Given the description of an element on the screen output the (x, y) to click on. 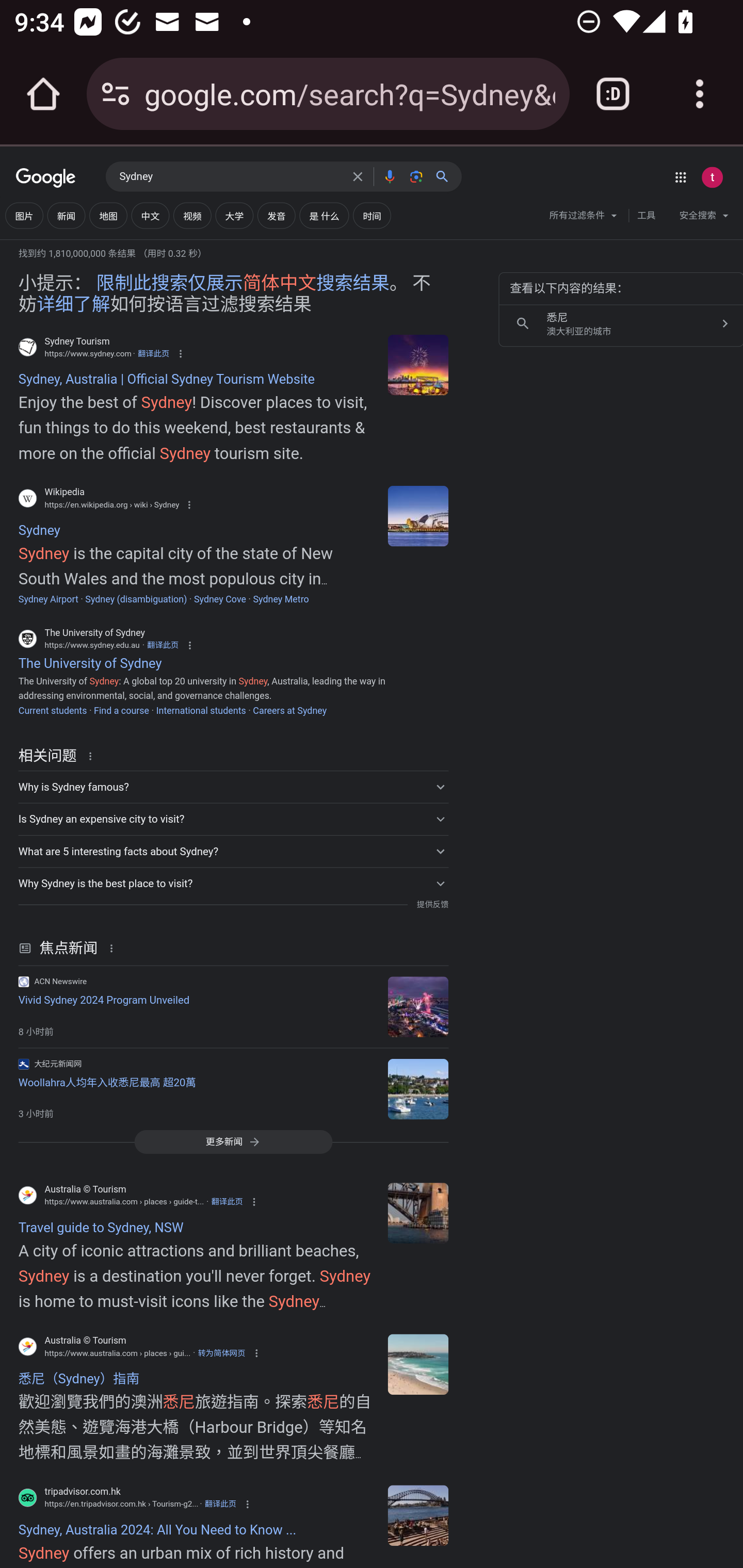
Open the home page (43, 93)
Connection is secure (115, 93)
Switch or close tabs (612, 93)
Customize and control Google Chrome (699, 93)
清除 (357, 176)
按语音搜索 (389, 176)
按图搜索 (415, 176)
搜索 (446, 176)
Google 应用 (680, 176)
Google 账号： test appium (testappium002@gmail.com) (712, 176)
Google (45, 178)
Sydney (229, 177)
图片 (24, 215)
新闻 (65, 215)
地图 (107, 215)
添加“中文” 中文 (149, 215)
视频 (191, 215)
添加“大学” 大学 (234, 215)
添加“发音” 发音 (276, 215)
添加“是 什么” 是 什么 (324, 215)
添加“时间” 时间 (371, 215)
所有过滤条件 (583, 217)
工具 (646, 215)
安全搜索 (703, 217)
限制此搜索仅展示简体中文搜索结果 限制此搜索仅展示 简体中文 搜索结果 (242, 283)
详细了解 (73, 304)
www.sydney (417, 364)
翻译此页 (152, 353)
Sydney (417, 514)
Sydney Airport (47, 598)
Sydney (disambiguation) (135, 598)
Sydney Cove (219, 598)
Sydney Metro (280, 598)
翻译此页 (162, 644)
Current students (51, 710)
Find a course (121, 710)
International students (200, 710)
Careers at Sydney (289, 710)
关于这条结果的详细信息 (93, 754)
Why is Sydney famous? (232, 785)
Is Sydney an expensive city to visit? (232, 818)
What are 5 interesting facts about Sydney? (232, 851)
Why Sydney is the best place to visit? (232, 883)
提供反馈 (432, 904)
关于这条结果的详细信息 (114, 947)
更多新闻 (232, 1141)
guide-to-sydney (417, 1212)
翻译此页 (226, 1201)
guide-to-sydney (417, 1364)
转为简体网页 (220, 1352)
Tourism-g255060-Sydney_New_South_Wales-Vacations (417, 1515)
翻译此页 (220, 1503)
